Given the description of an element on the screen output the (x, y) to click on. 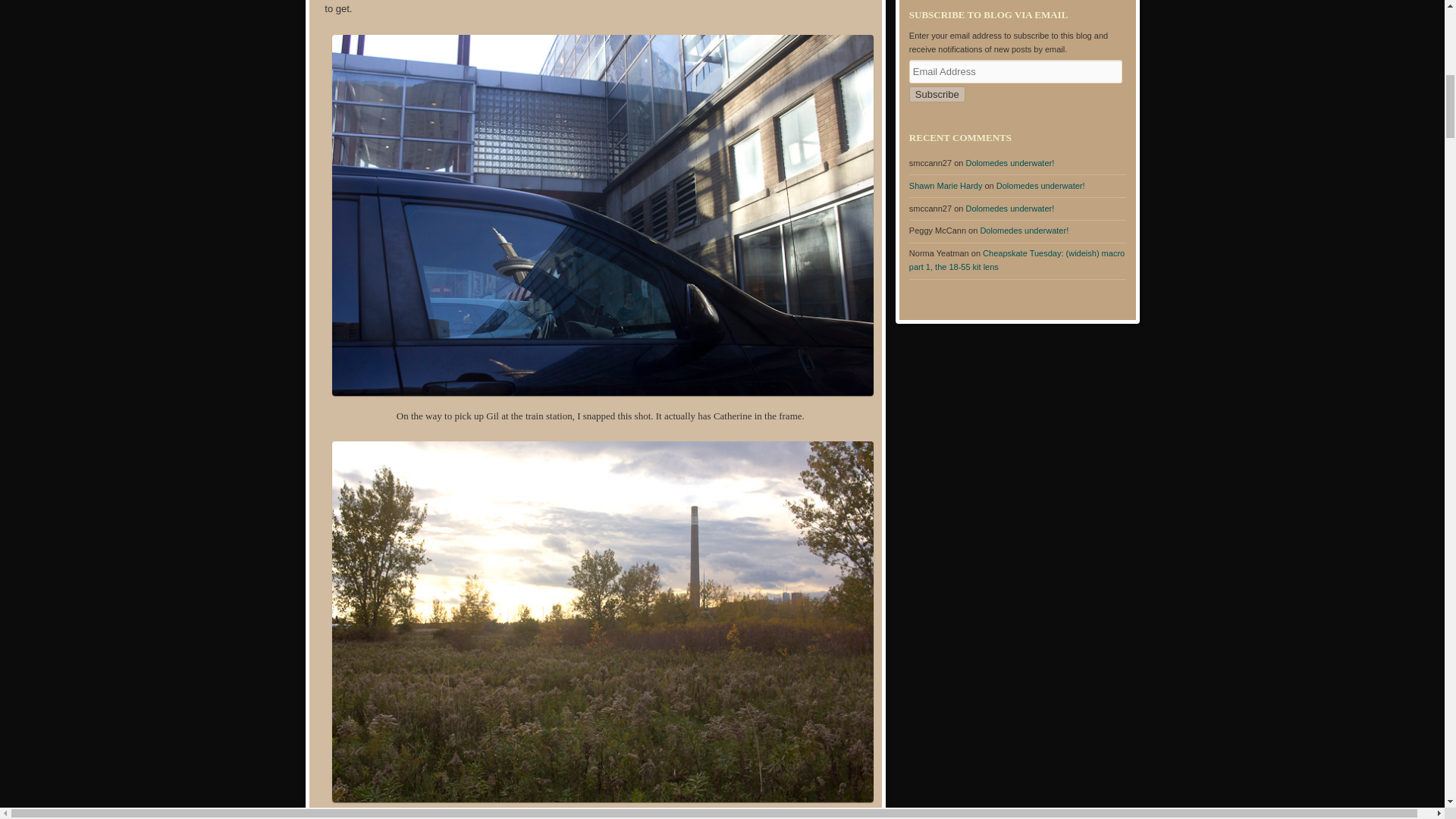
Subscribe (936, 94)
